Given the description of an element on the screen output the (x, y) to click on. 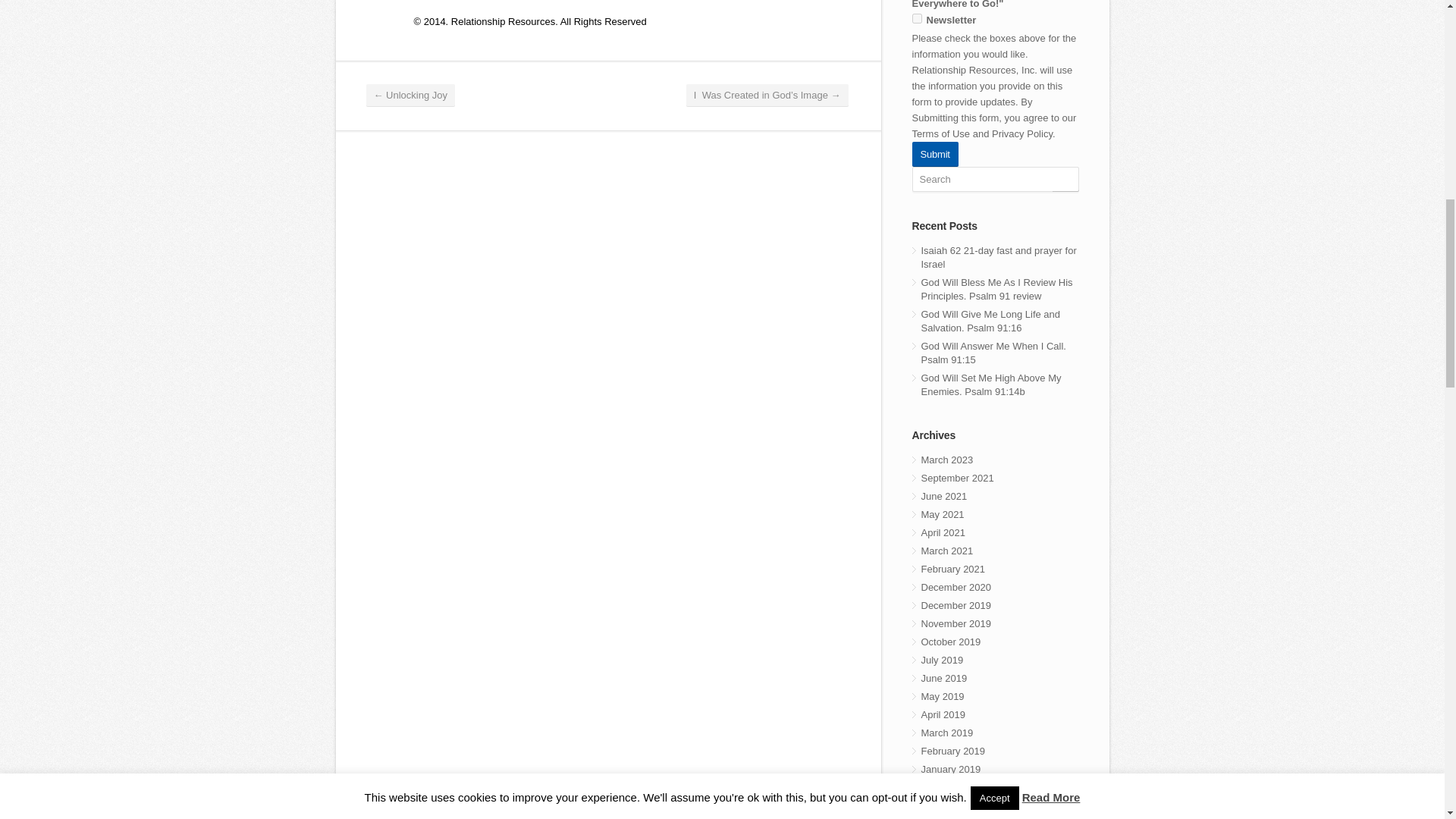
Submit (934, 153)
Search (994, 179)
8d6161d877 (916, 18)
Search (994, 179)
